Given the description of an element on the screen output the (x, y) to click on. 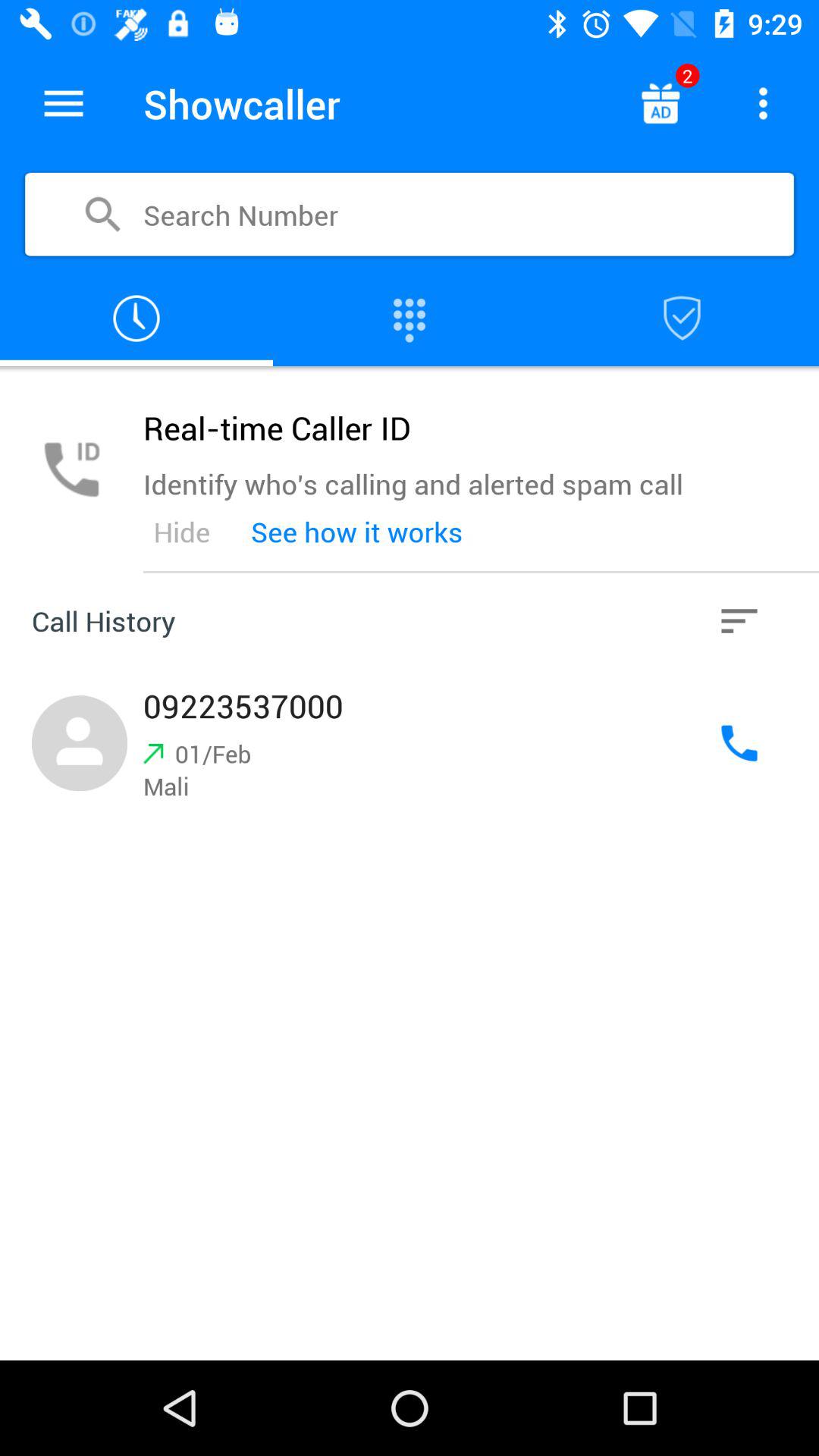
call this number (739, 743)
